Given the description of an element on the screen output the (x, y) to click on. 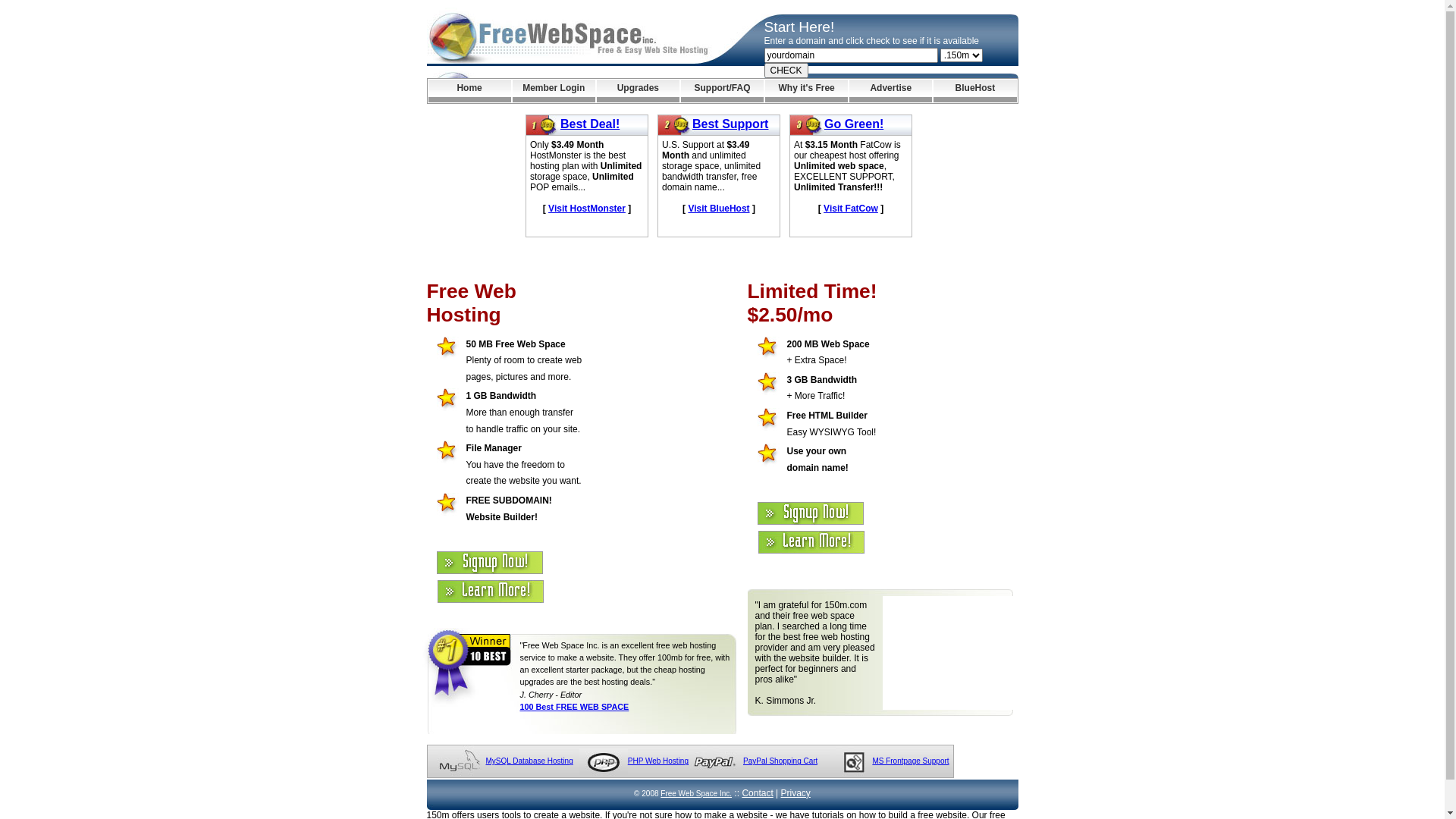
Advertise Element type: text (890, 90)
MySQL Database Hosting Element type: text (528, 760)
Member Login Element type: text (553, 90)
BlueHost Element type: text (974, 90)
Home Element type: text (468, 90)
PayPal Shopping Cart Element type: text (780, 760)
Upgrades Element type: text (637, 90)
100 Best FREE WEB SPACE Element type: text (574, 706)
MS Frontpage Support Element type: text (910, 760)
Privacy Element type: text (795, 792)
Contact Element type: text (756, 792)
Why it's Free Element type: text (806, 90)
Free Web Space Inc. Element type: text (695, 793)
PHP Web Hosting Element type: text (657, 760)
Support/FAQ Element type: text (721, 90)
CHECK Element type: text (786, 70)
